Given the description of an element on the screen output the (x, y) to click on. 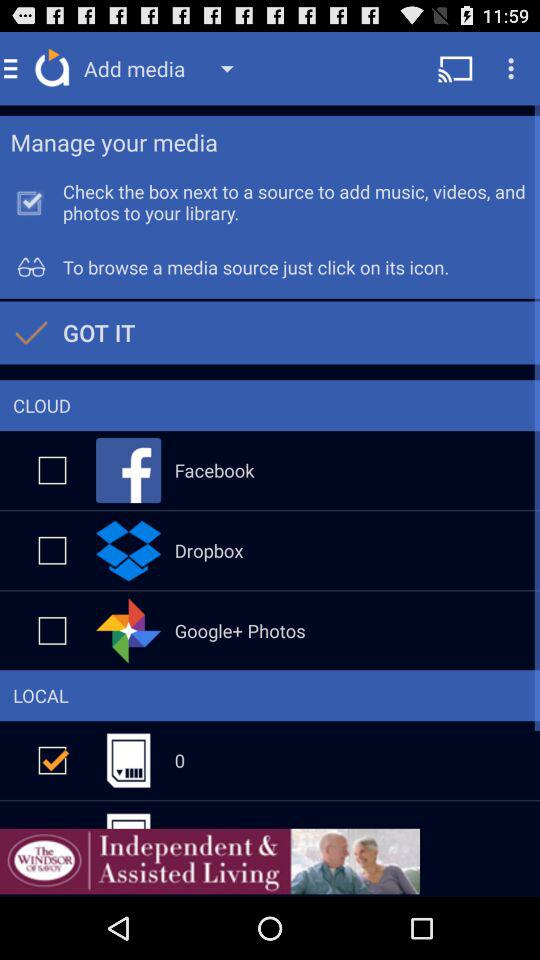
tick box button (52, 469)
